Given the description of an element on the screen output the (x, y) to click on. 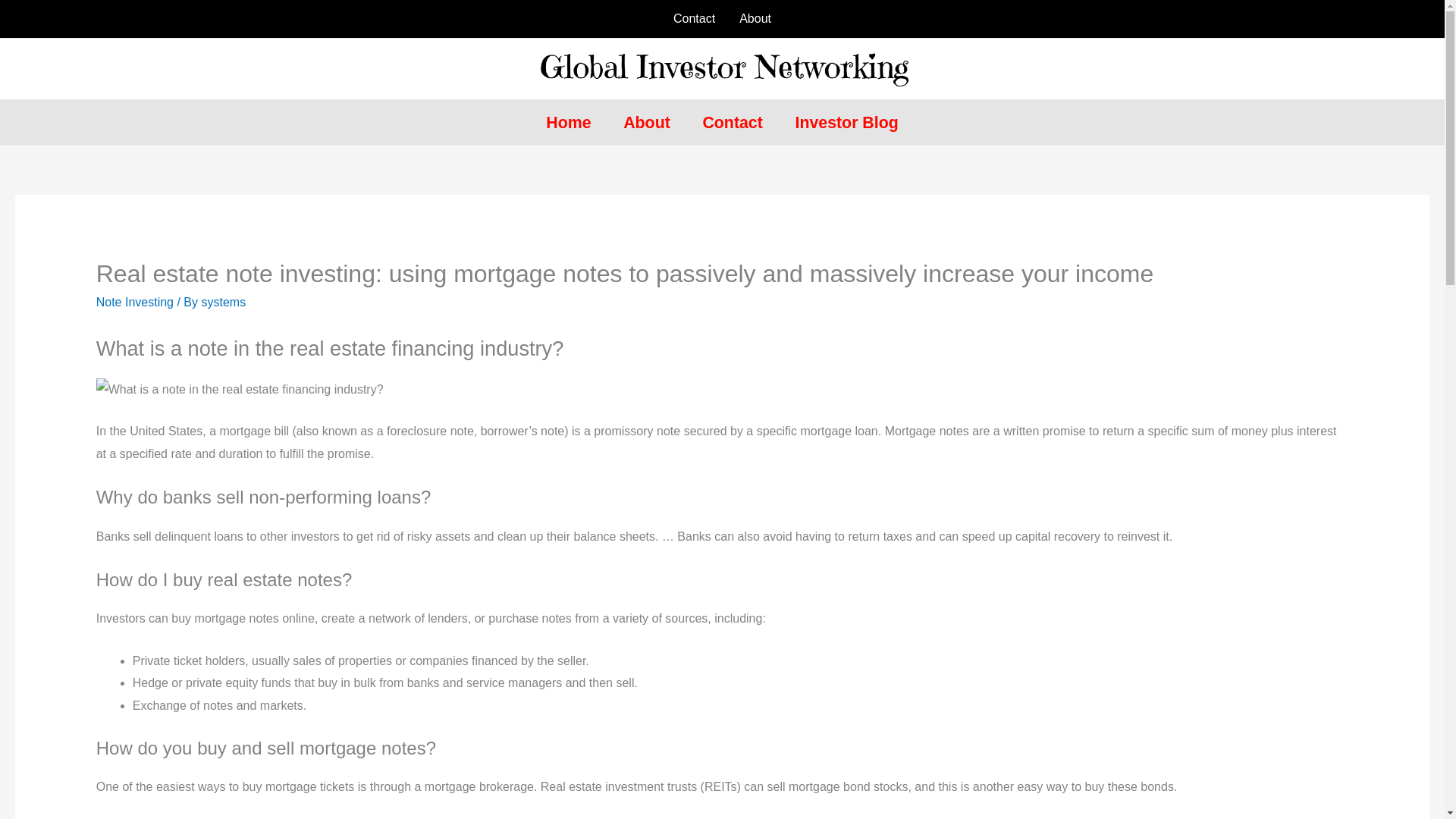
View all posts by systems (223, 301)
Home (568, 122)
Note Investing (134, 301)
About (646, 122)
Contact (693, 18)
systems (223, 301)
Contact (731, 122)
Investor Blog (846, 122)
About (754, 18)
